Given the description of an element on the screen output the (x, y) to click on. 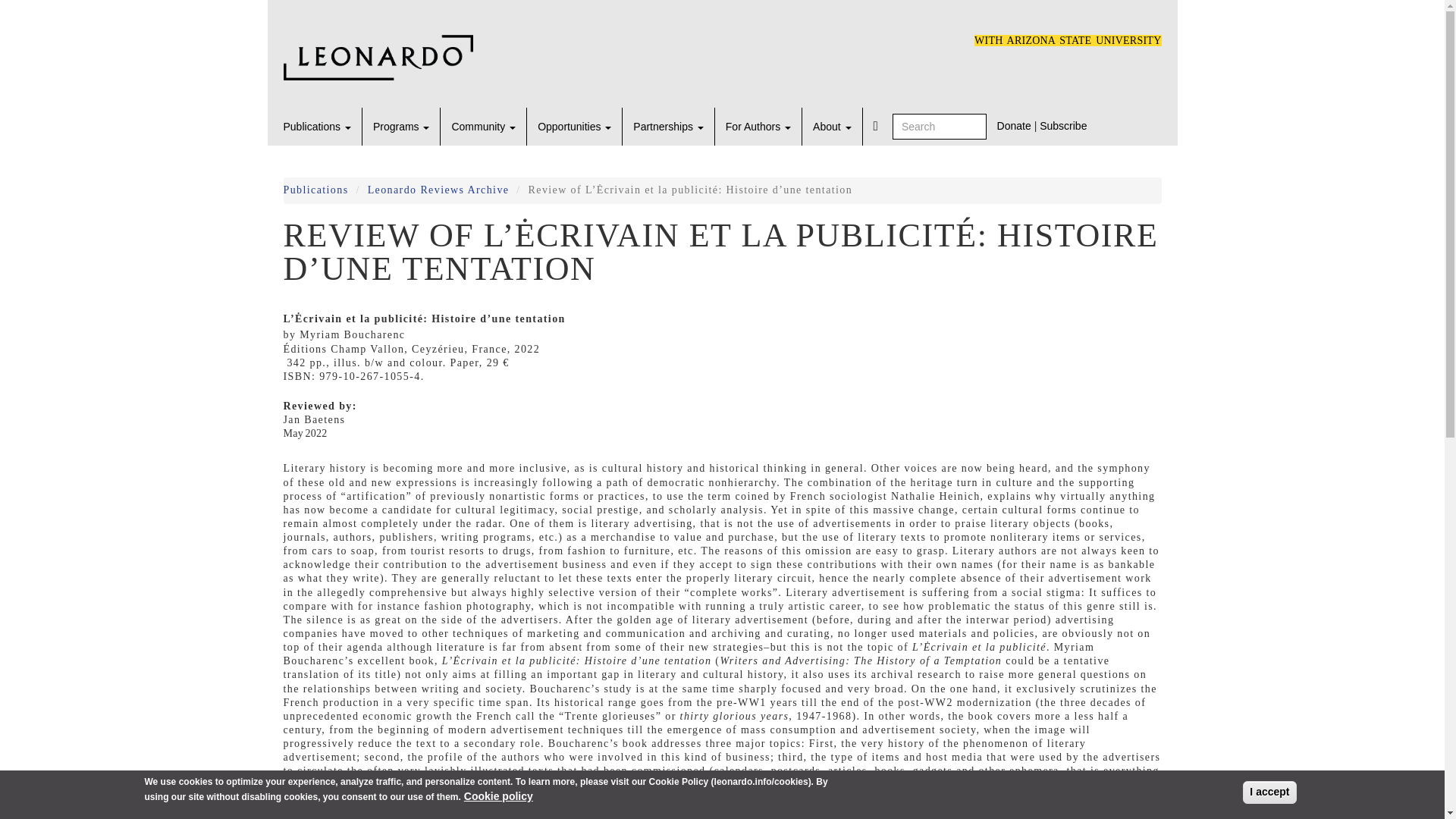
Home (378, 53)
Programs (400, 126)
Community (483, 126)
Publications (316, 126)
